Given the description of an element on the screen output the (x, y) to click on. 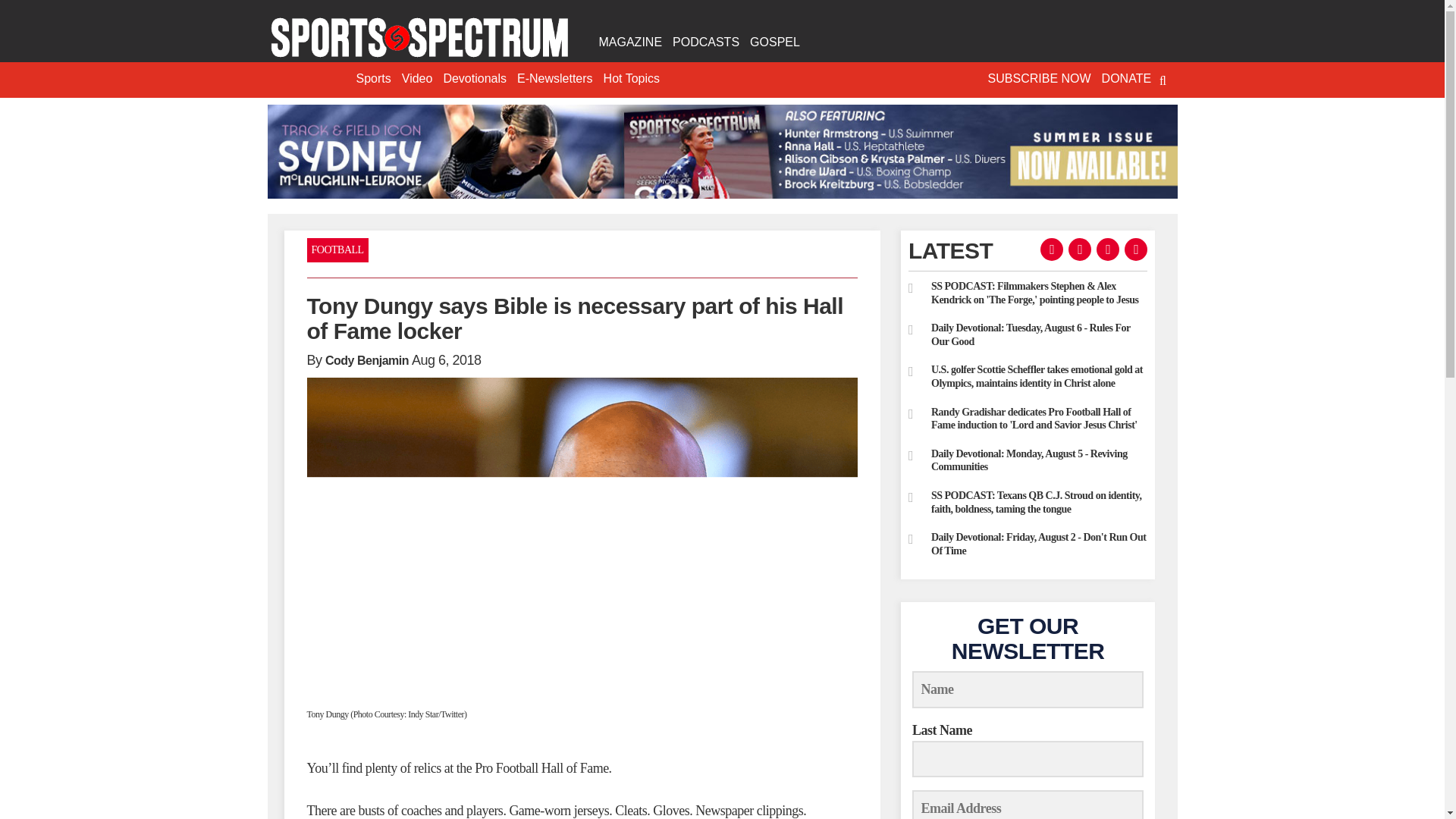
PODCASTS (705, 42)
E-Newsletters (555, 78)
DONATE (1126, 78)
MAGAZINE (629, 42)
Cody Benjamin (366, 359)
FOOTBALL (336, 250)
Video (417, 78)
Hot Topics (631, 78)
Devotionals (475, 78)
SUBSCRIBE NOW (1039, 78)
GOSPEL (774, 42)
Sports (373, 78)
Sports Spectrum (418, 37)
